Given the description of an element on the screen output the (x, y) to click on. 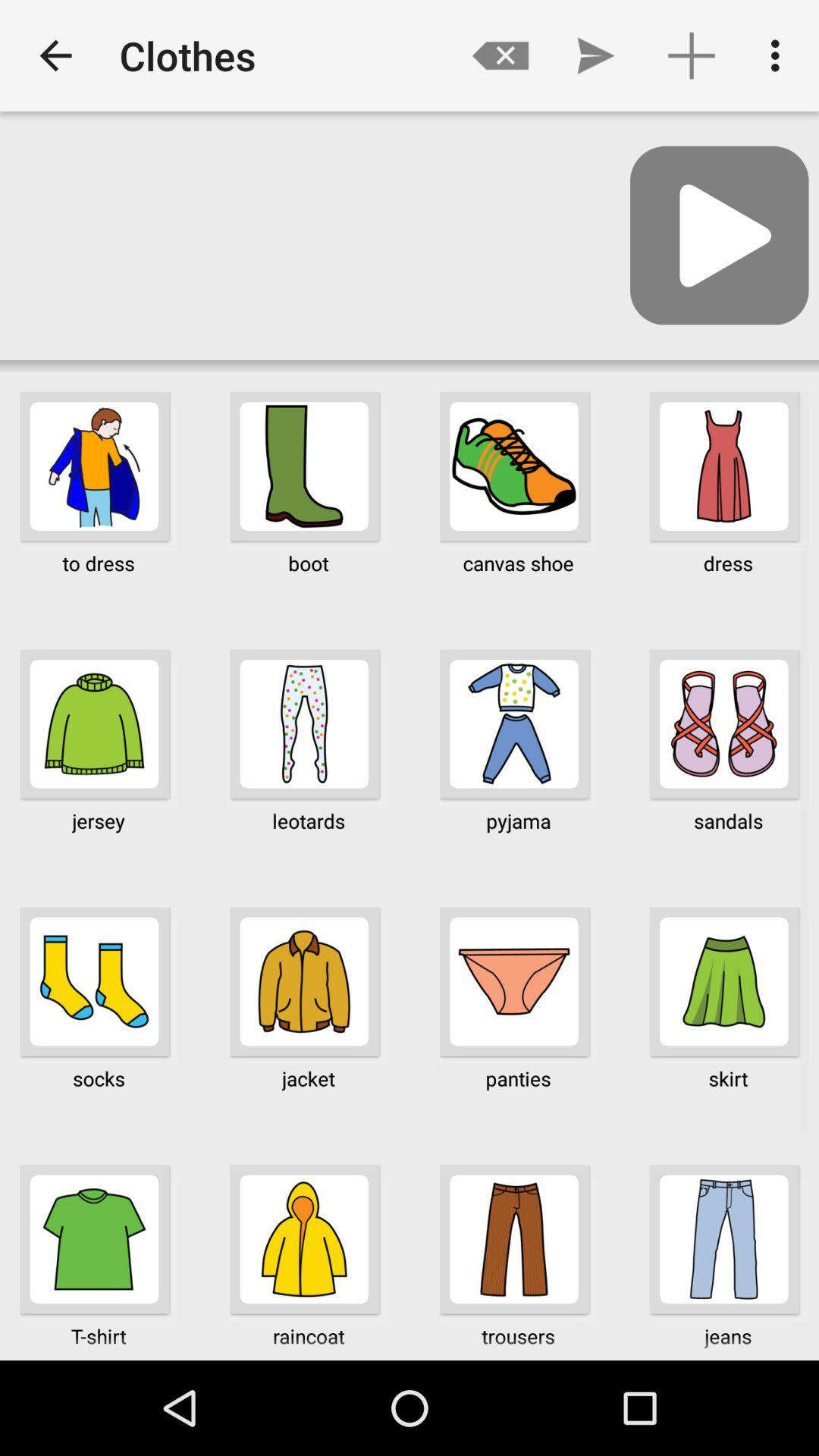
launch icon to the left of the clothes icon (55, 55)
